Given the description of an element on the screen output the (x, y) to click on. 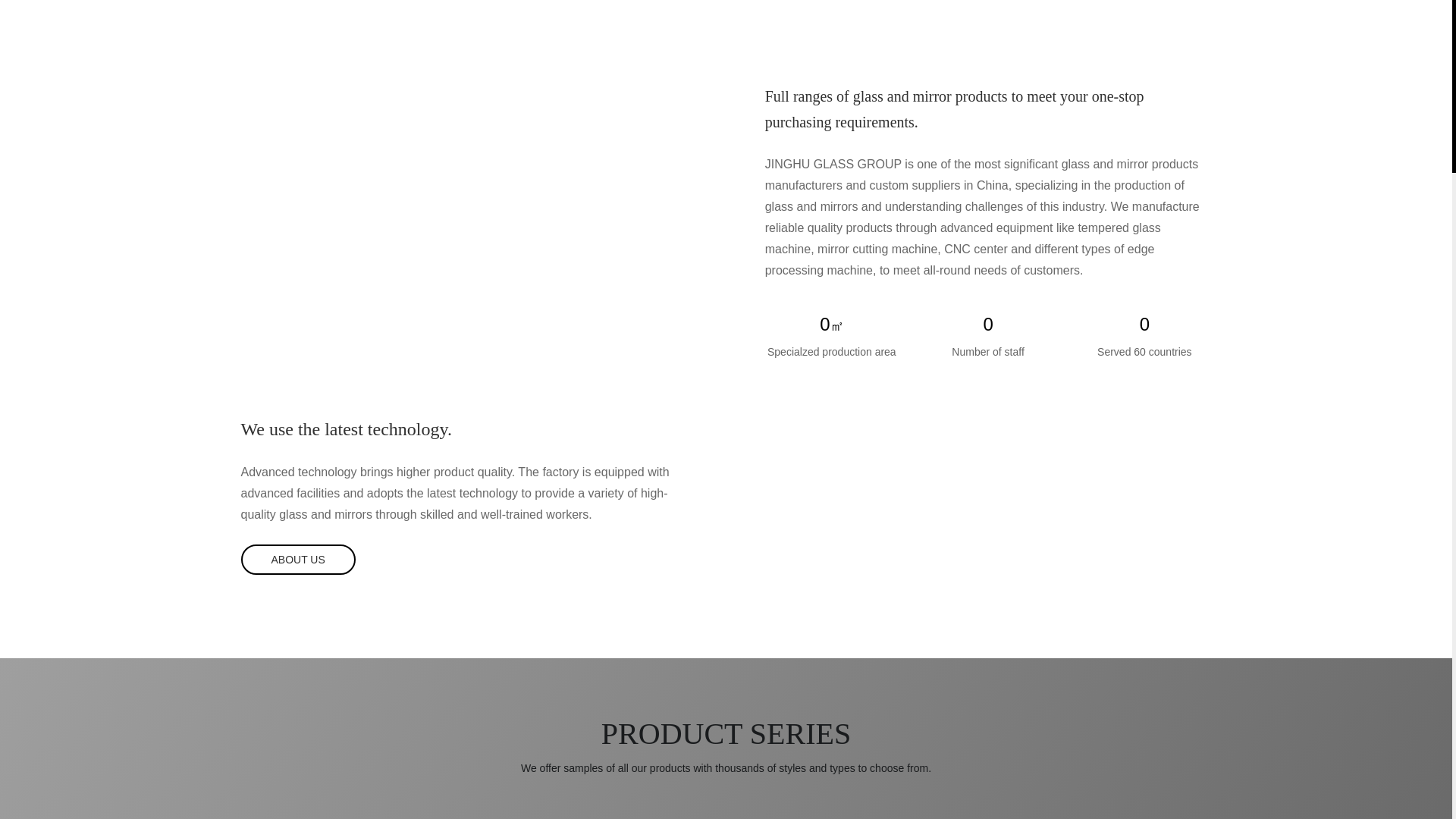
PRODUCTS (658, 33)
